Given the description of an element on the screen output the (x, y) to click on. 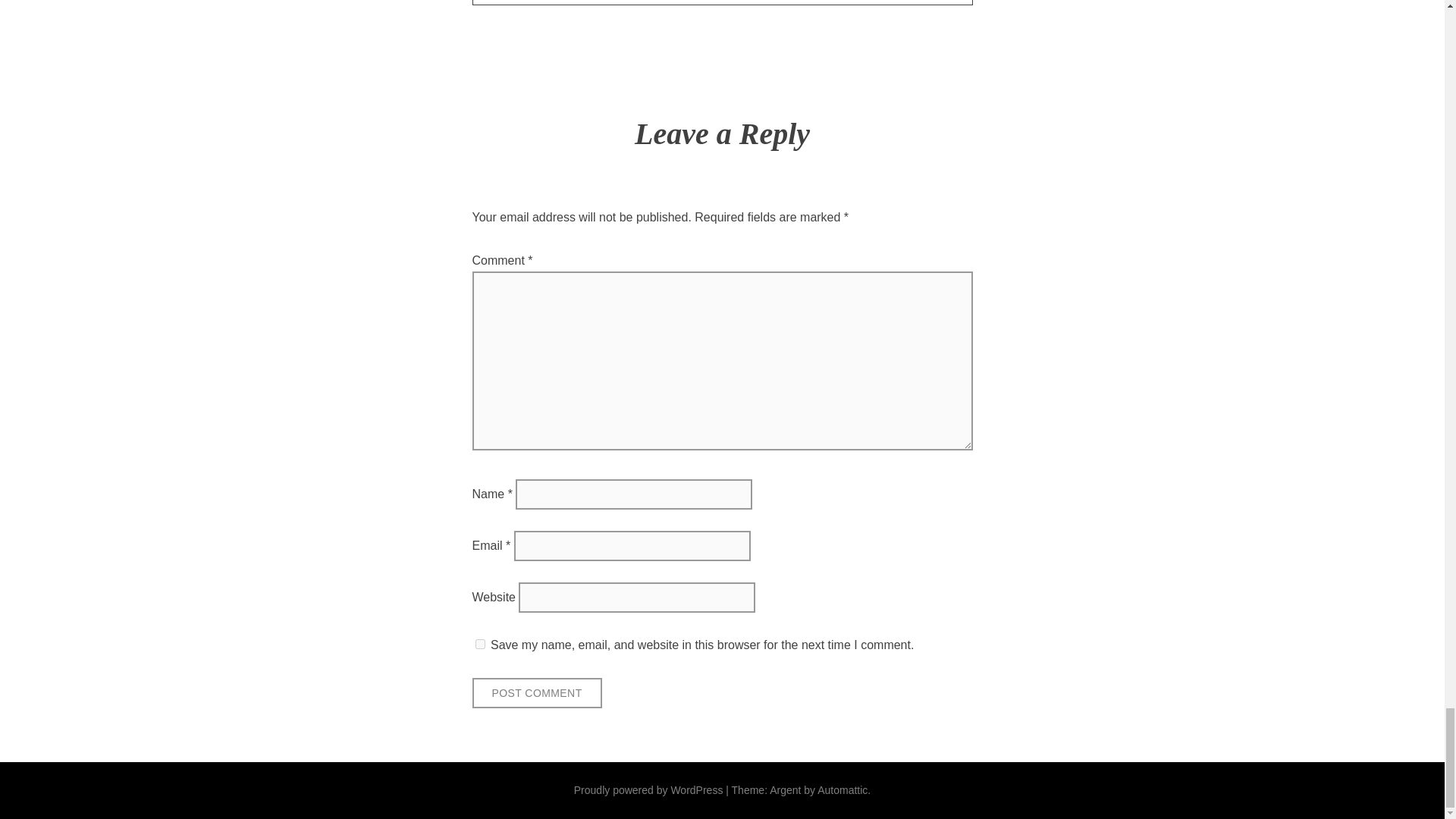
Post Comment (536, 693)
yes (479, 644)
